Given the description of an element on the screen output the (x, y) to click on. 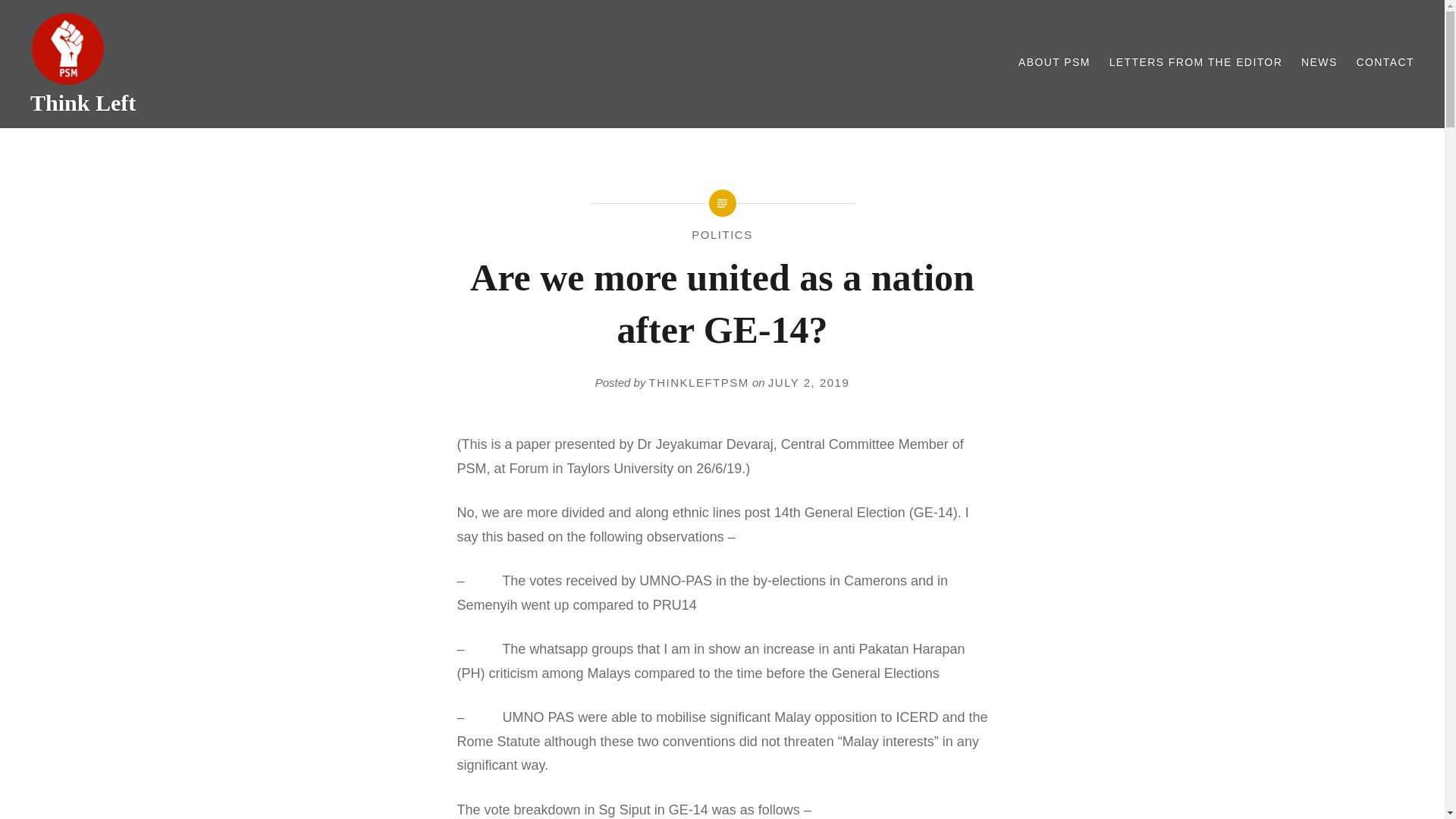
CONTACT (1384, 62)
THINKLEFTPSM (699, 382)
Think Left (82, 102)
LETTERS FROM THE EDITOR (1195, 62)
ABOUT PSM (1053, 62)
NEWS (1319, 62)
POLITICS (721, 234)
JULY 2, 2019 (809, 382)
